Given the description of an element on the screen output the (x, y) to click on. 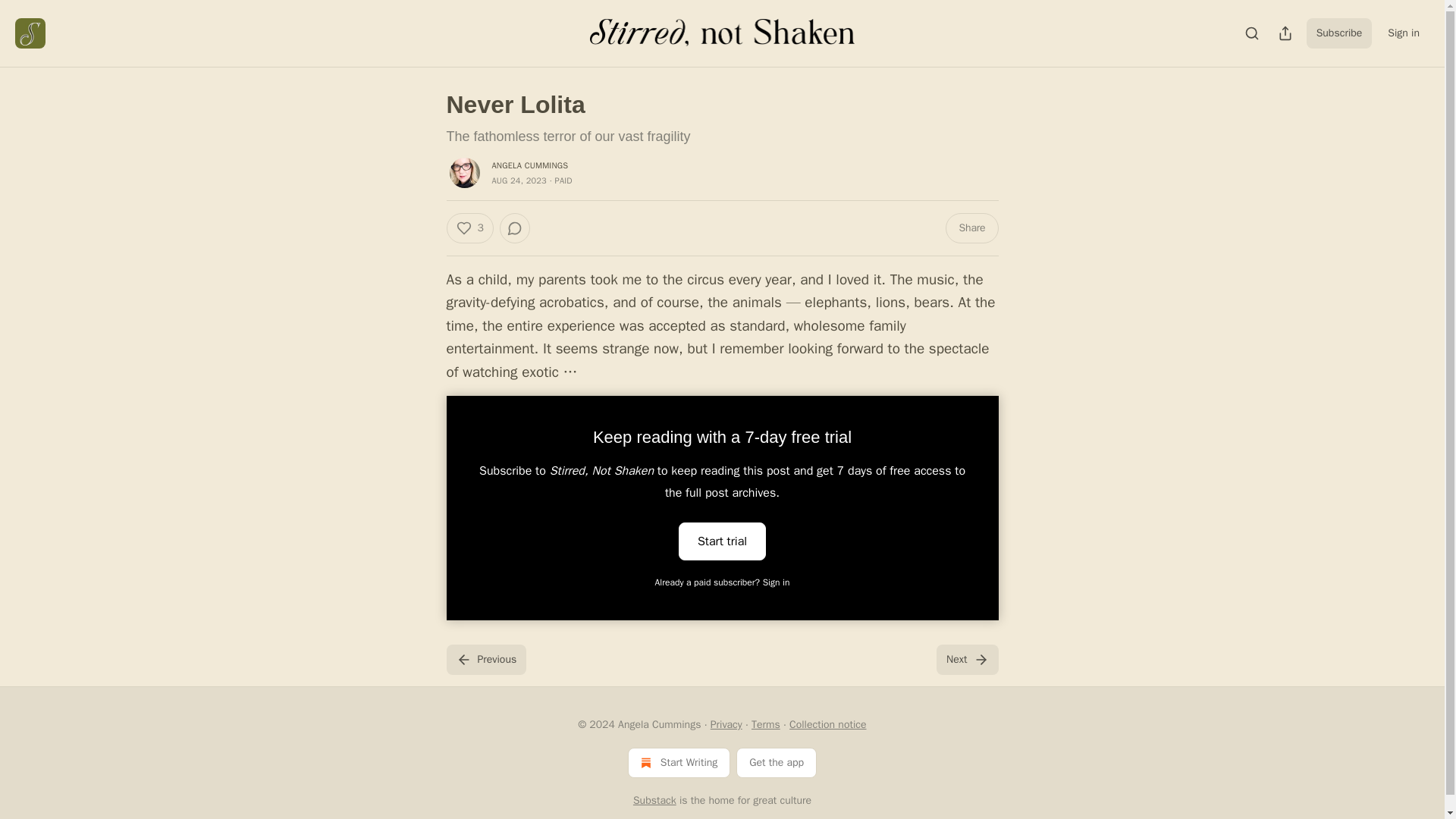
Privacy (726, 724)
Start trial (721, 540)
Collection notice (827, 724)
Already a paid subscriber? Sign in (722, 582)
Next (966, 659)
Subscribe (1339, 33)
3 (469, 227)
Previous (485, 659)
Substack (655, 799)
Start trial (721, 541)
